Given the description of an element on the screen output the (x, y) to click on. 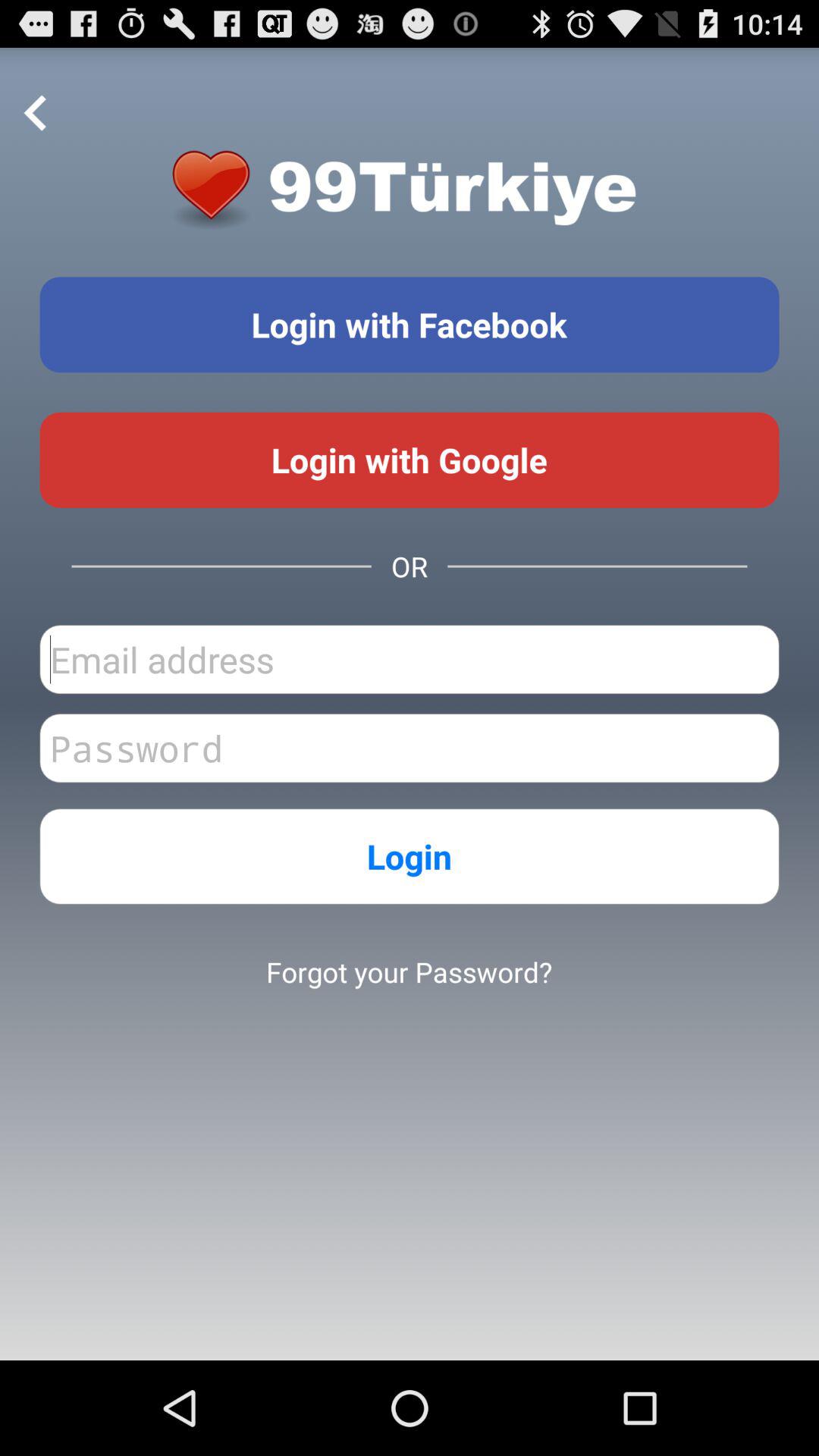
login with facebook (409, 324)
